Given the description of an element on the screen output the (x, y) to click on. 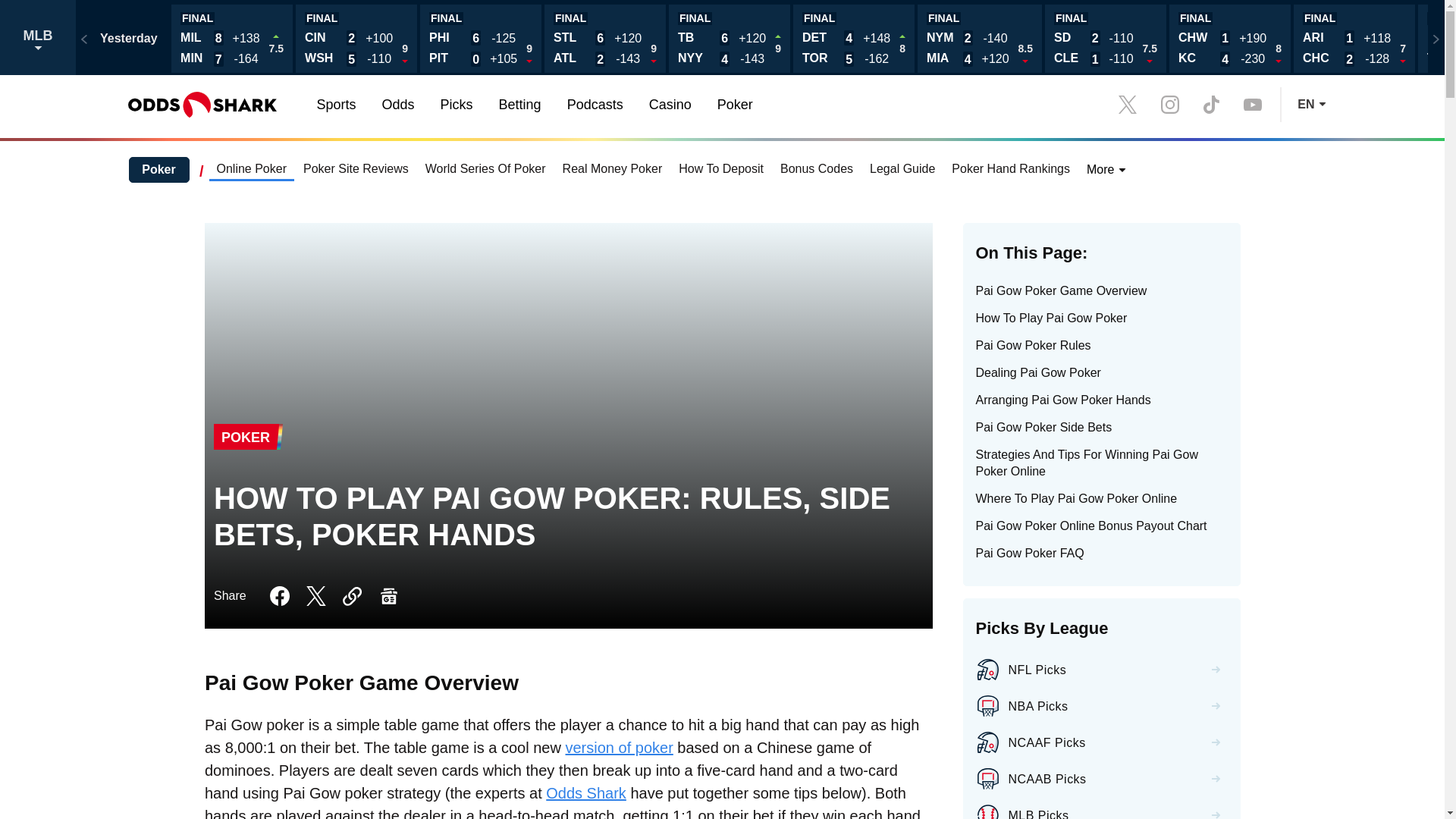
Sports (335, 104)
